Given the description of an element on the screen output the (x, y) to click on. 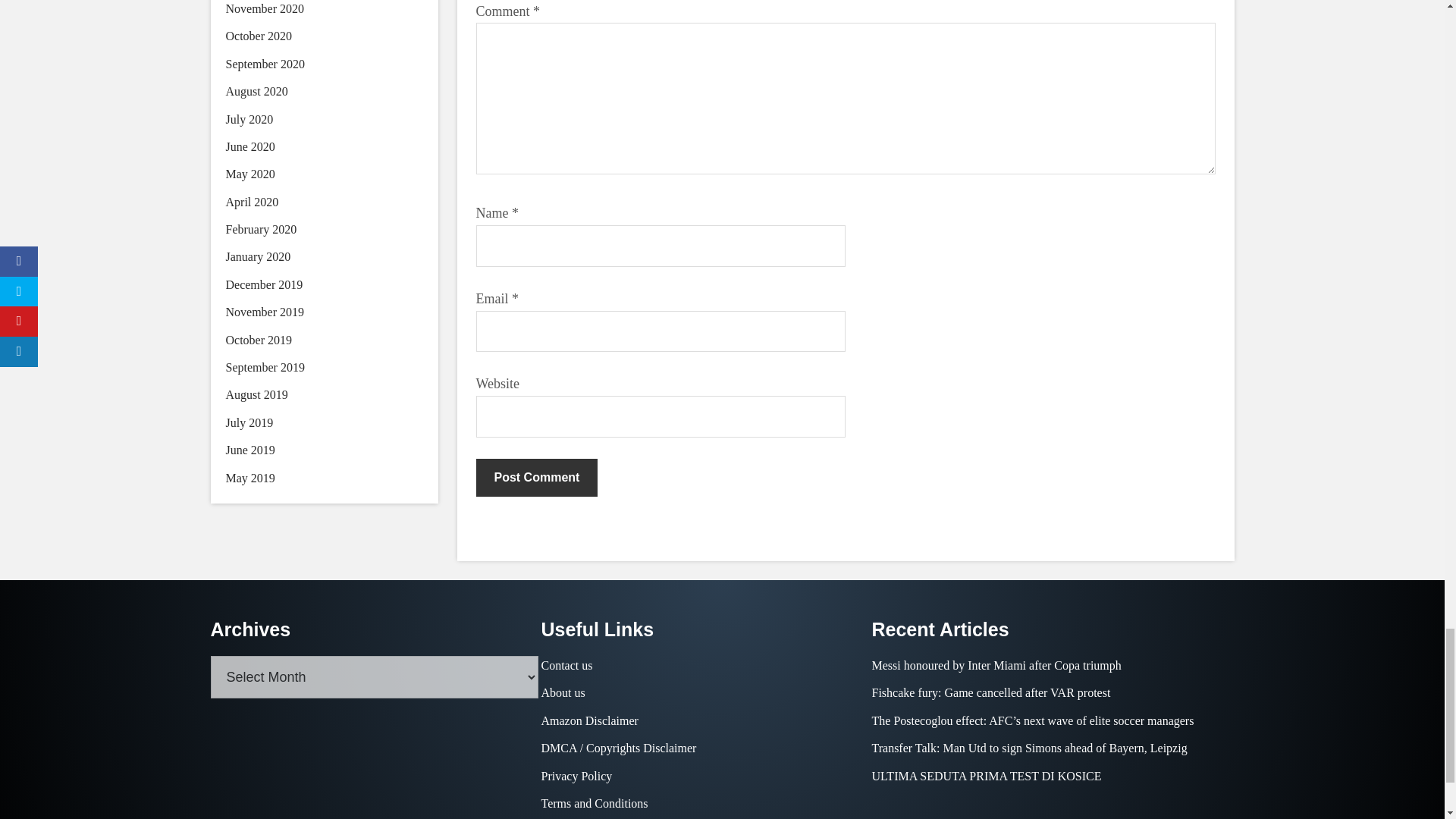
Post Comment (537, 477)
